Given the description of an element on the screen output the (x, y) to click on. 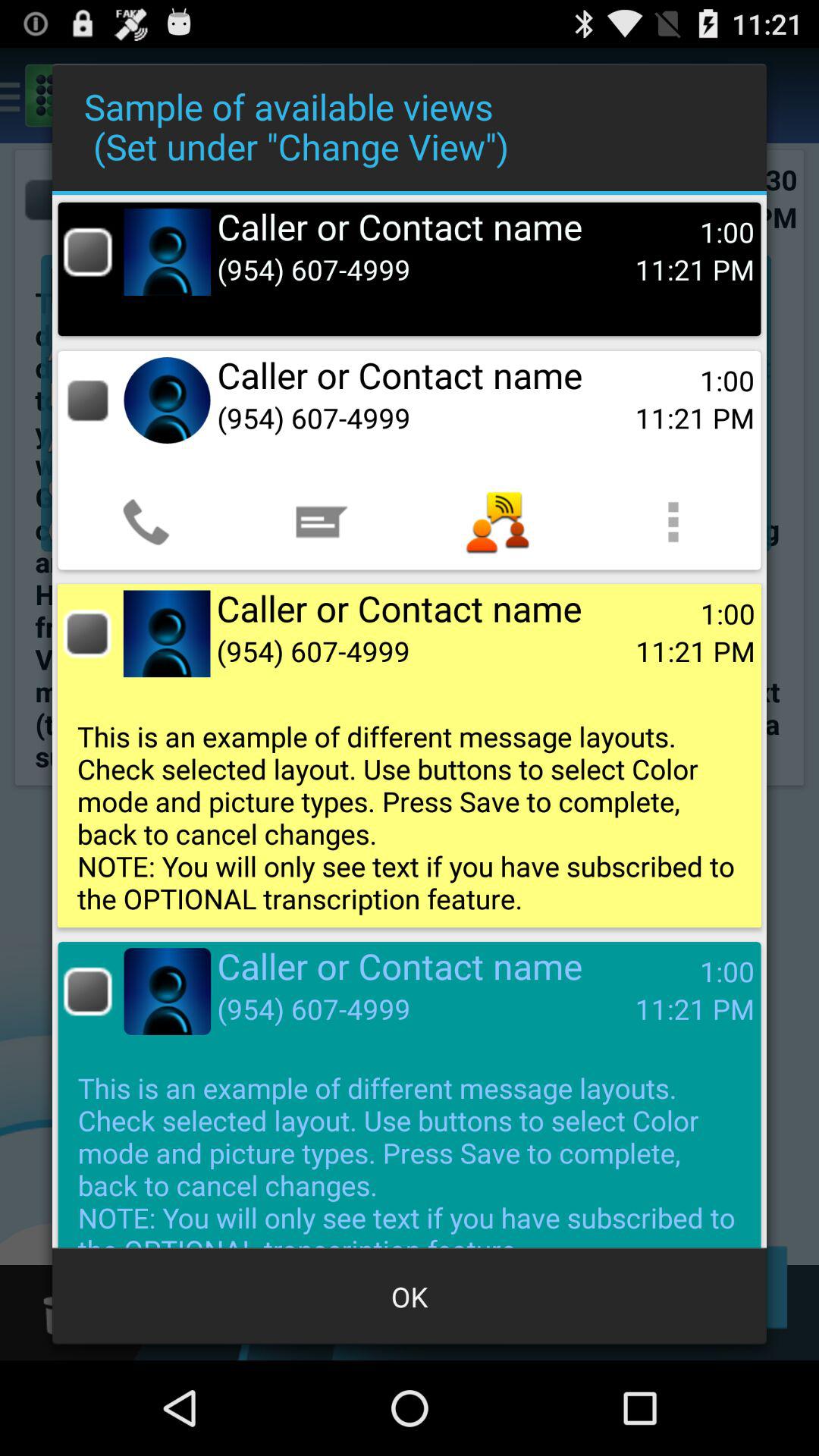
contact caller (87, 252)
